Given the description of an element on the screen output the (x, y) to click on. 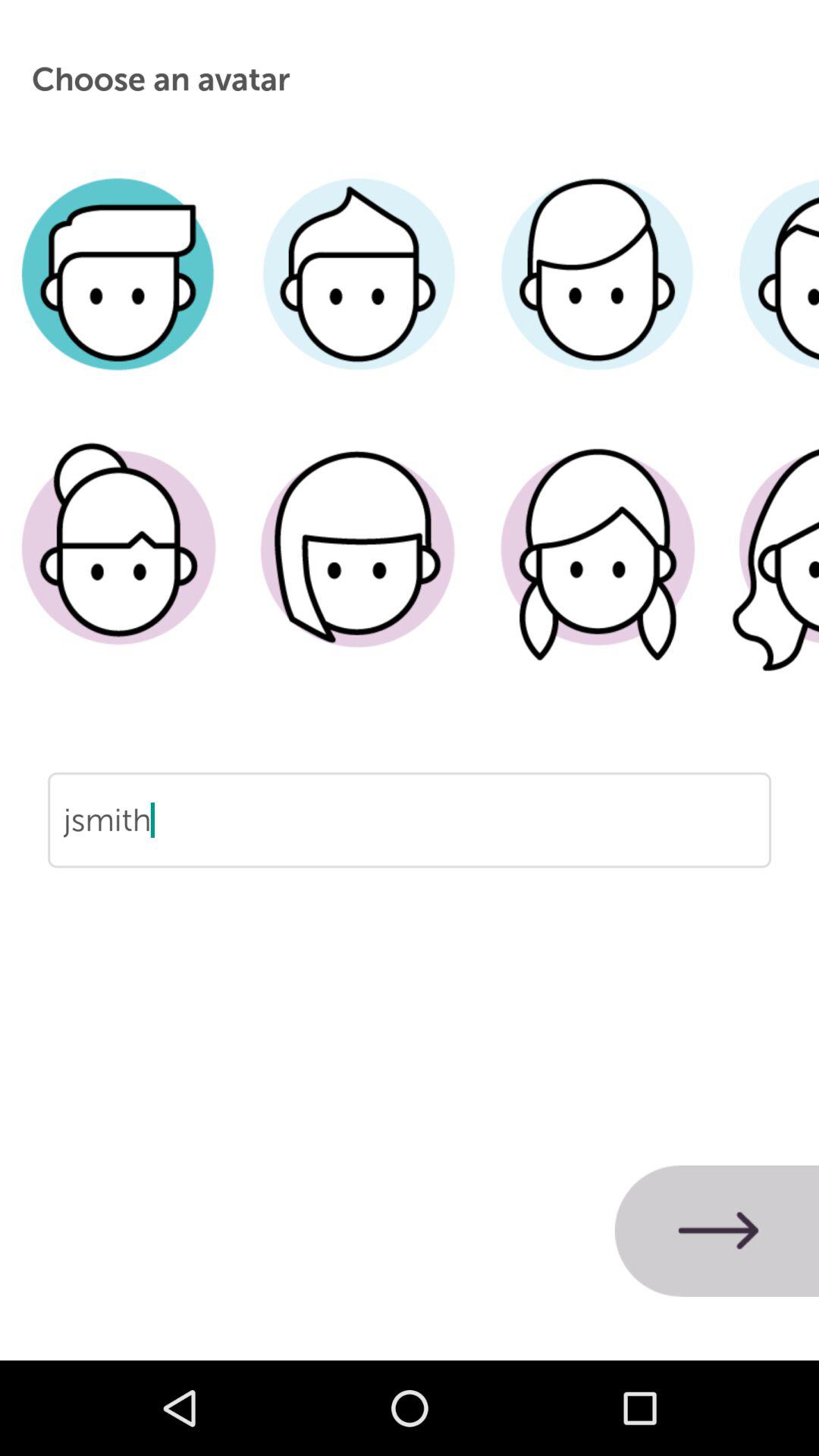
click on avatar (596, 296)
